Given the description of an element on the screen output the (x, y) to click on. 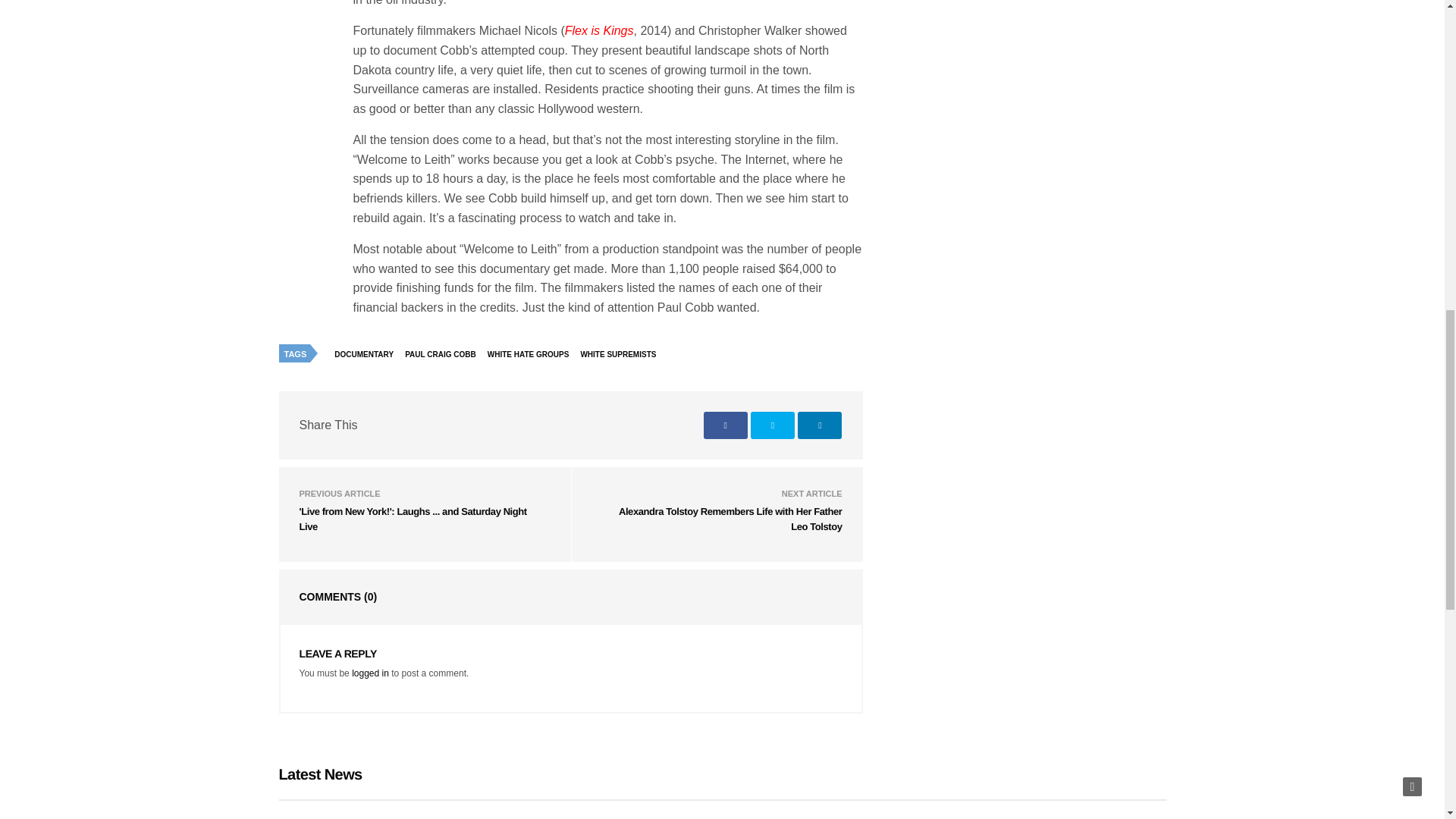
DOCUMENTARY (367, 353)
Alexandra Tolstoy Remembers Life with Her Father Leo Tolstoy (730, 519)
Flex is Kings (598, 30)
Alexandra Tolstoy Remembers Life with Her Father Leo Tolstoy (730, 519)
WHITE SUPREMISTS (621, 353)
'Live from New York!': Laughs ... and Saturday Night Live (411, 519)
PAUL CRAIG COBB (444, 353)
logged in (370, 673)
'Live from New York!': Laughs ... and Saturday Night Live (411, 519)
WHITE HATE GROUPS (532, 353)
